Given the description of an element on the screen output the (x, y) to click on. 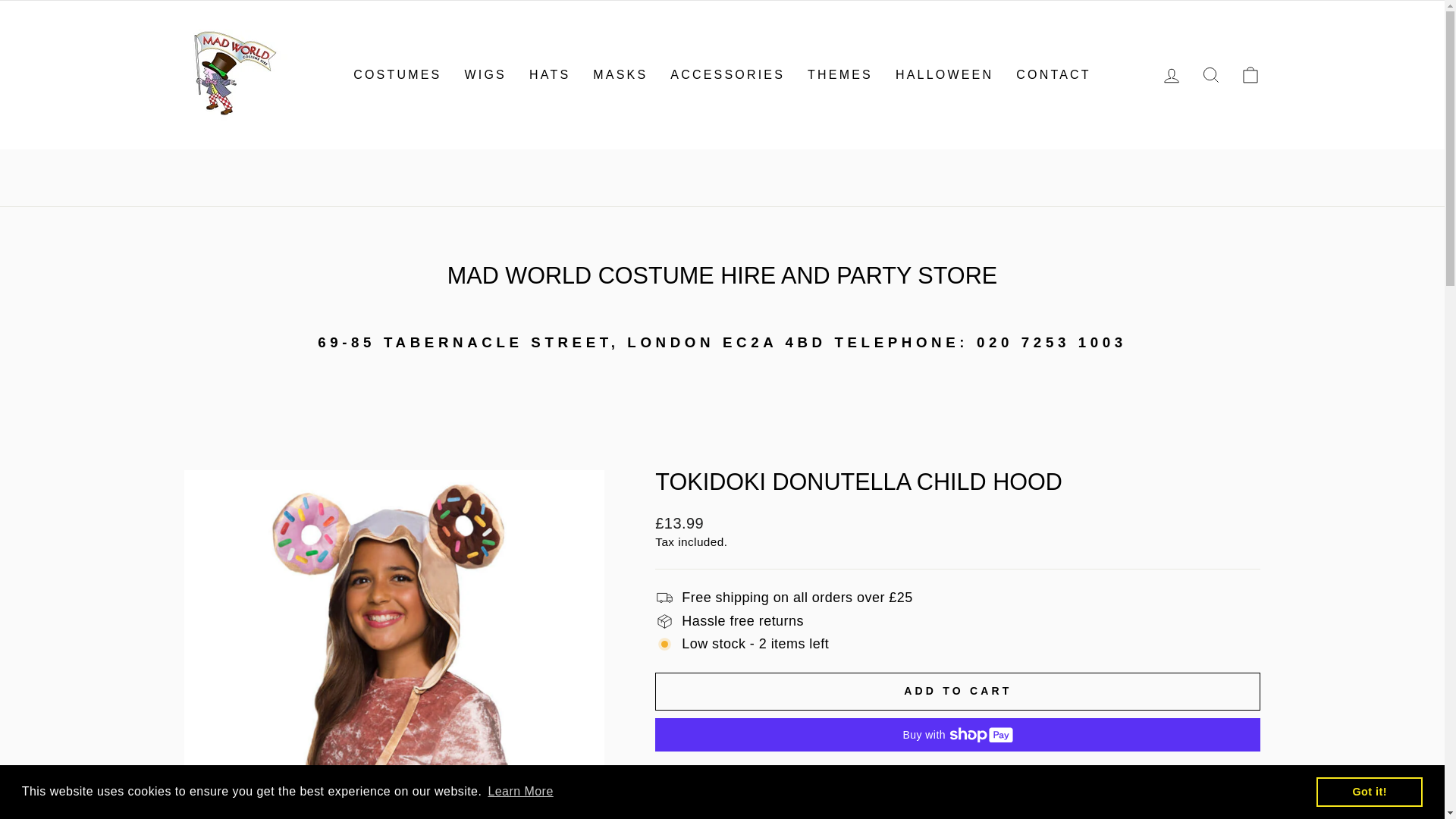
Got it! (1369, 791)
Learn More (520, 791)
